Given the description of an element on the screen output the (x, y) to click on. 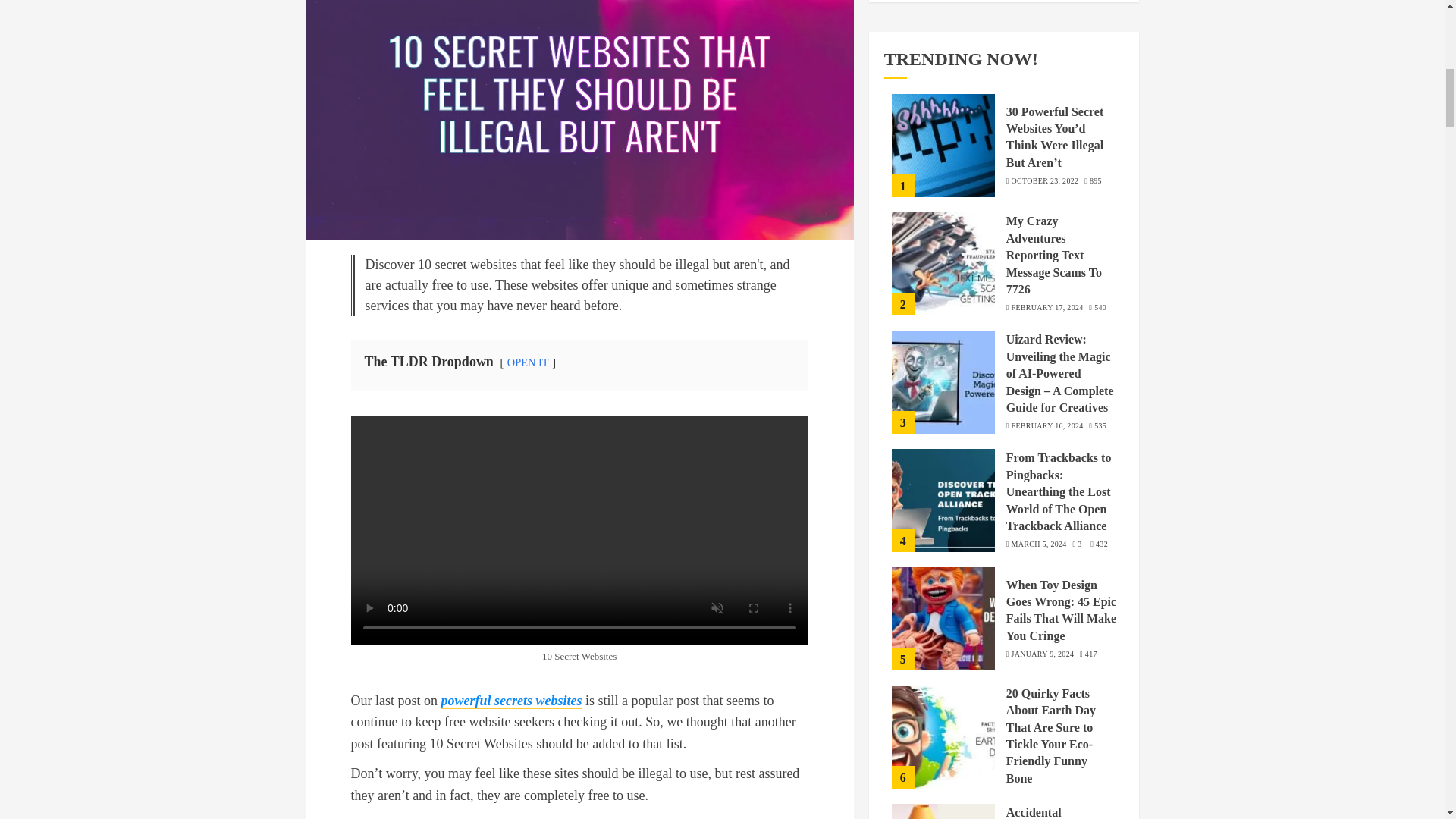
OPEN IT (527, 362)
